Given the description of an element on the screen output the (x, y) to click on. 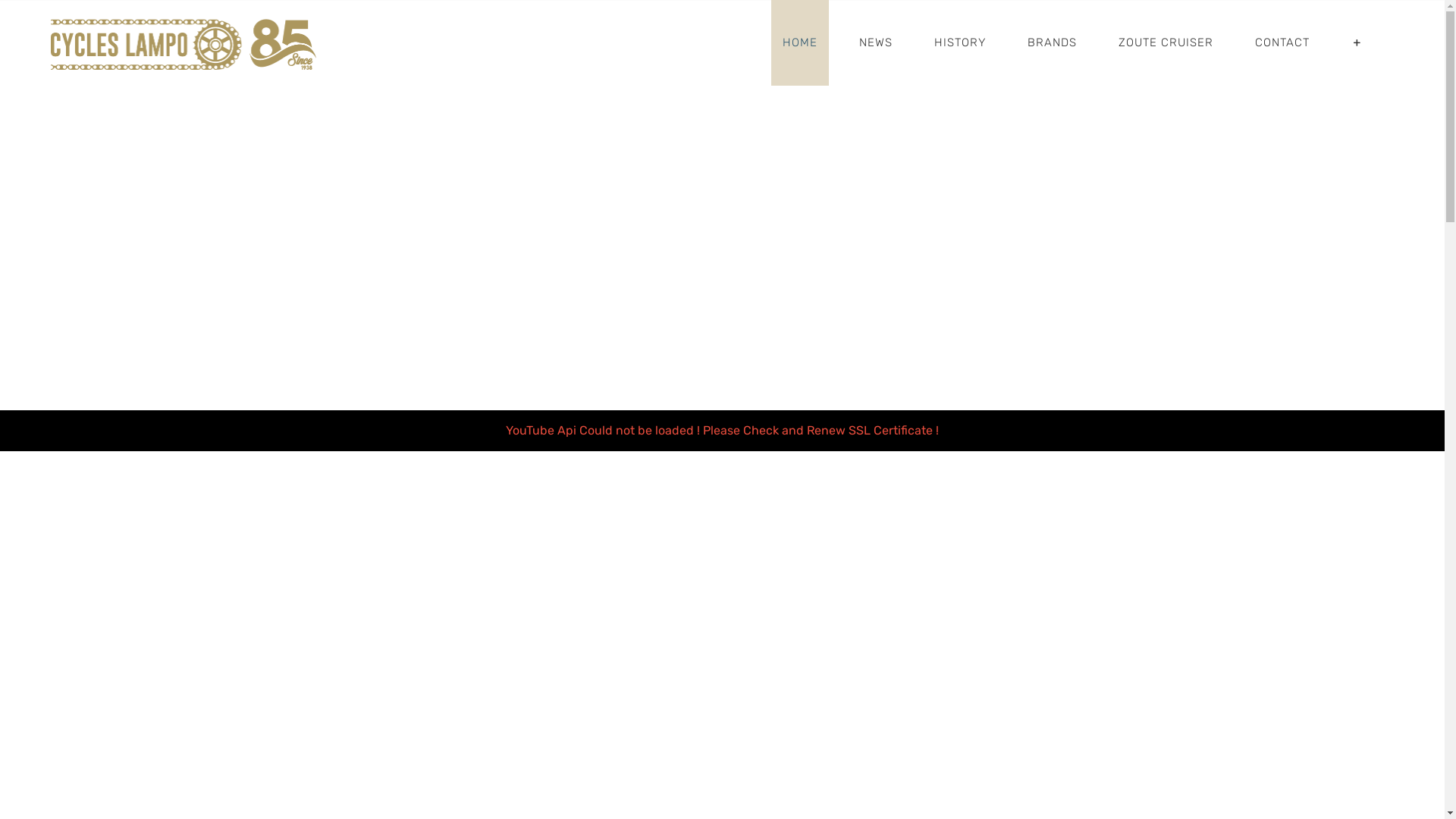
NEWS Element type: text (875, 42)
BRANDS Element type: text (1052, 42)
HOME Element type: text (799, 42)
HISTORY Element type: text (959, 42)
CONTACT Element type: text (1282, 42)
ZOUTE CRUISER Element type: text (1165, 42)
Toggle Sliding Bar Element type: hover (1356, 42)
